Given the description of an element on the screen output the (x, y) to click on. 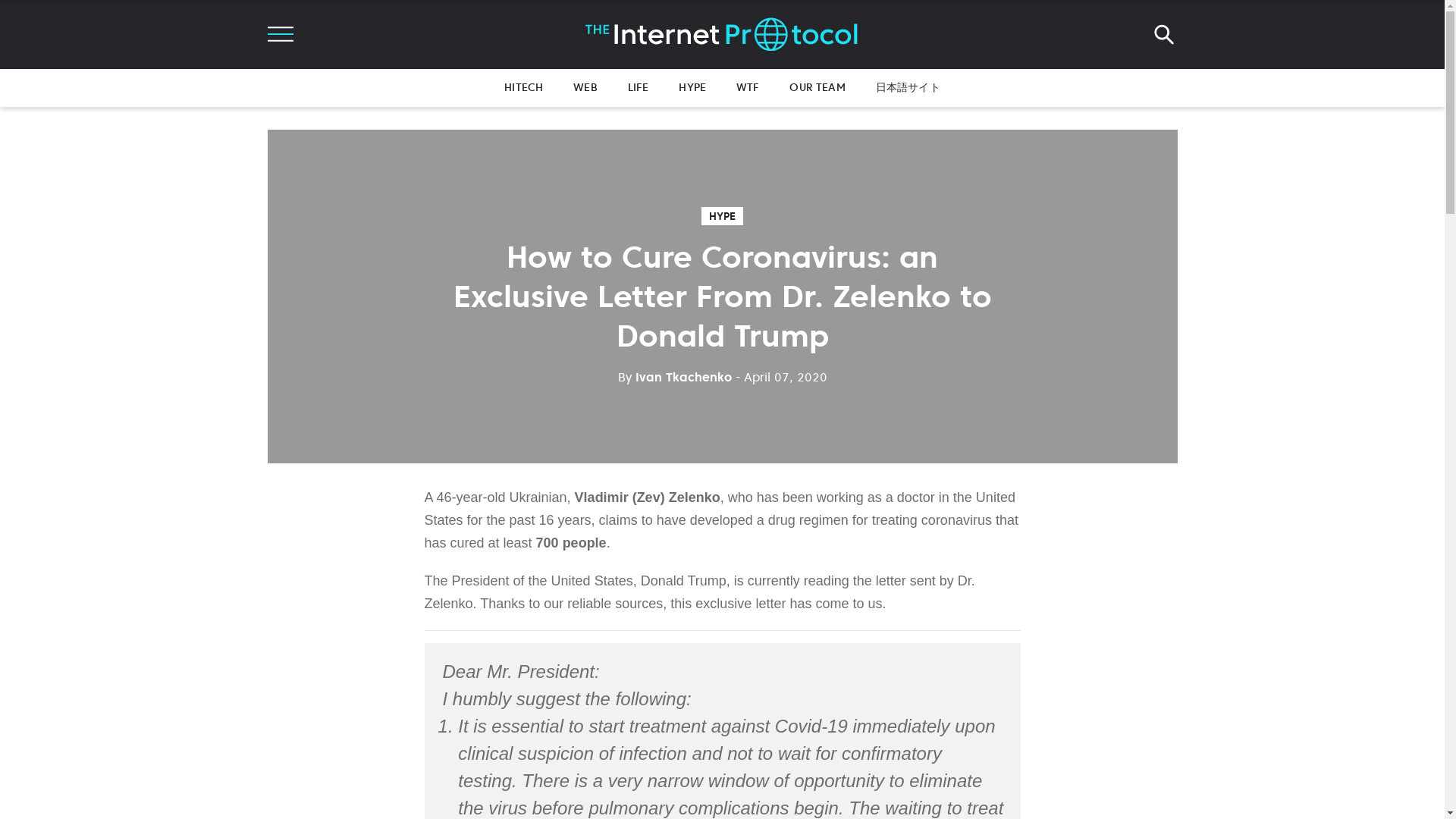
WTF (747, 87)
07 April, 2020 (781, 376)
HYPE (692, 87)
OUR TEAM (816, 87)
HITECH (523, 87)
WEB (584, 87)
LIFE (638, 87)
HYPE (721, 216)
By Ivan Tkachenko (673, 376)
